Given the description of an element on the screen output the (x, y) to click on. 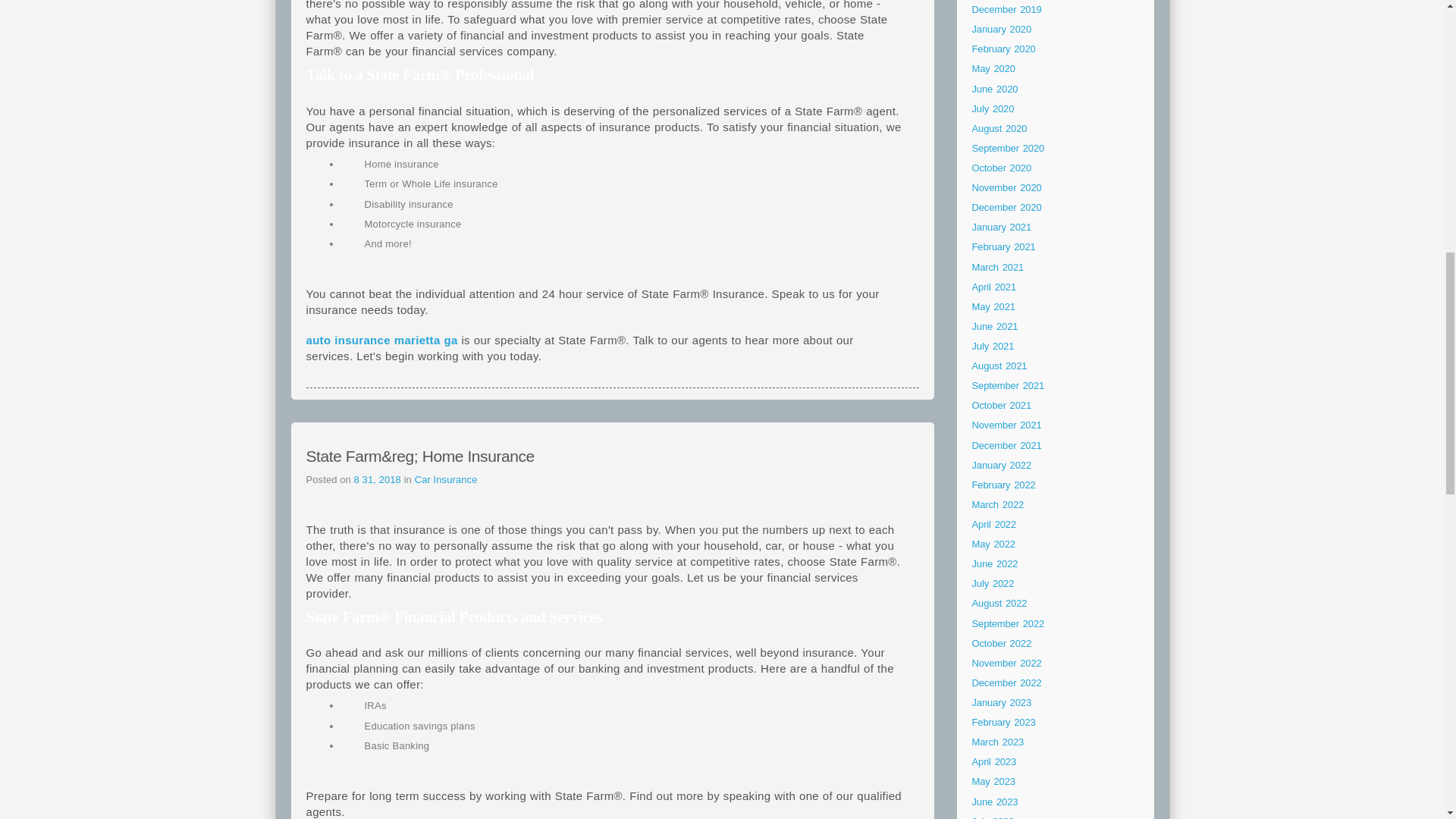
8 31, 2018  (378, 479)
auto insurance marietta ga (381, 339)
View all posts in Car Insurance (445, 479)
Car Insurance (445, 479)
